Given the description of an element on the screen output the (x, y) to click on. 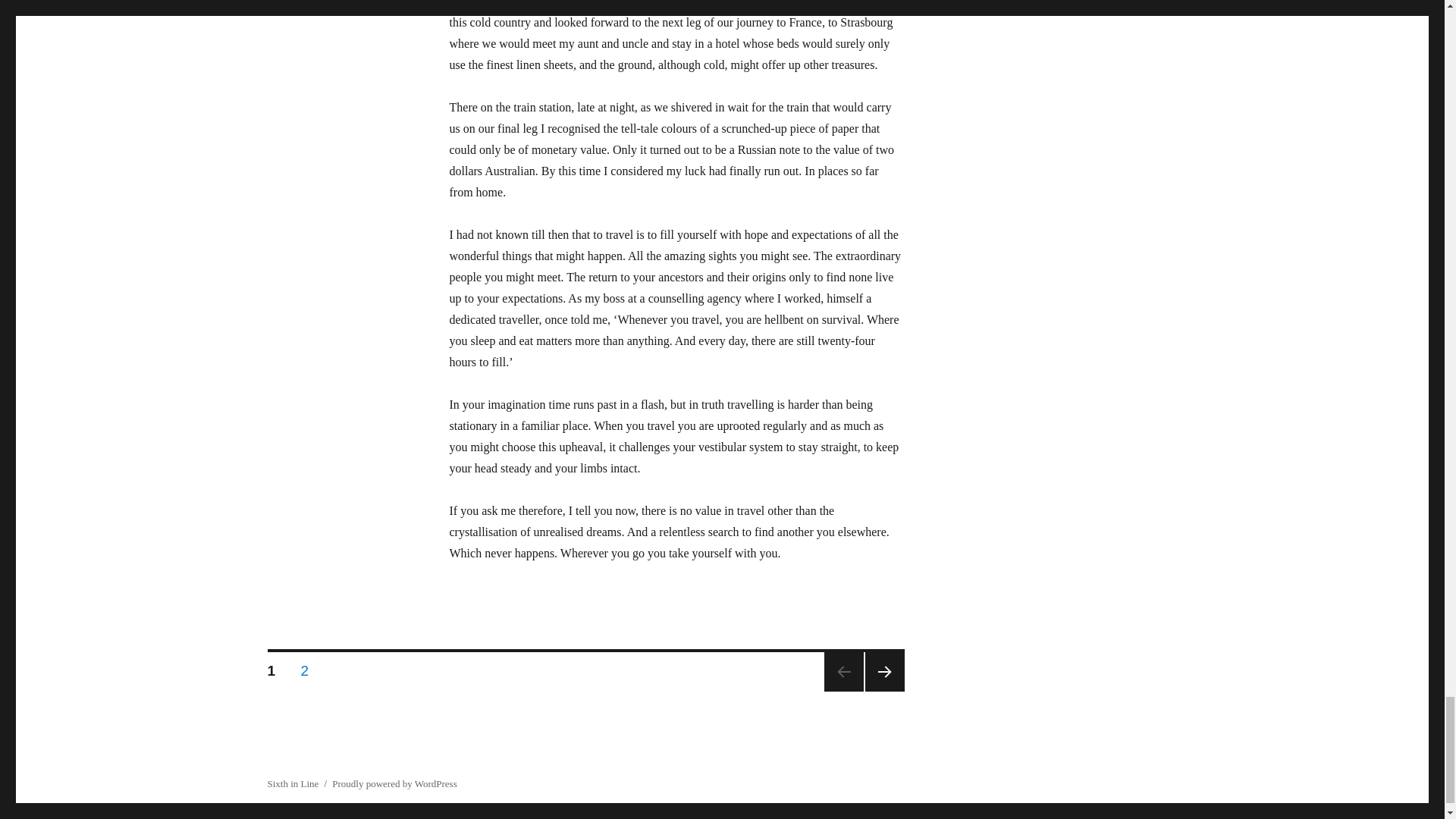
NEXT PAGE (304, 667)
